Given the description of an element on the screen output the (x, y) to click on. 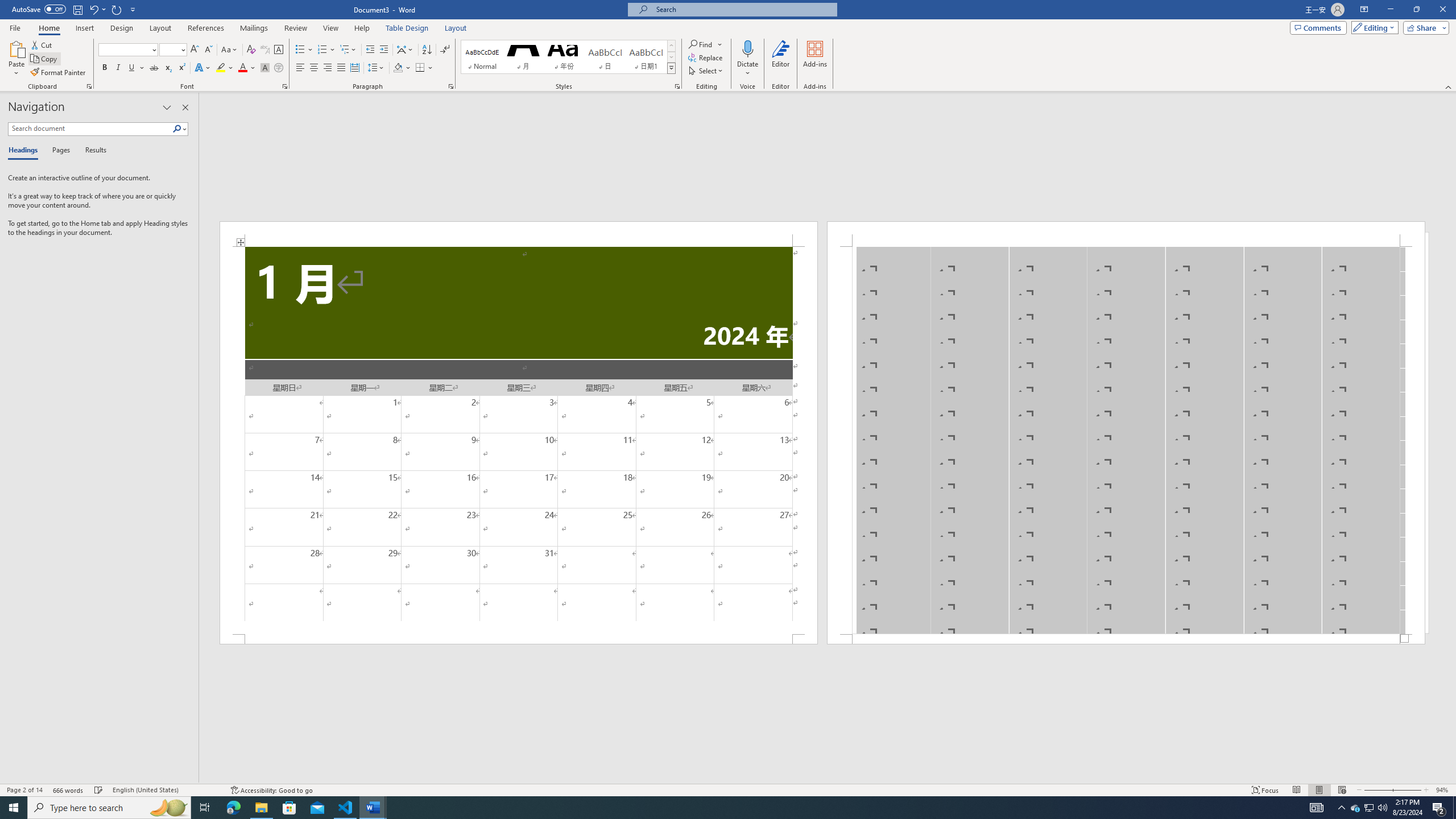
Font Color RGB(255, 0, 0) (241, 67)
